Given the description of an element on the screen output the (x, y) to click on. 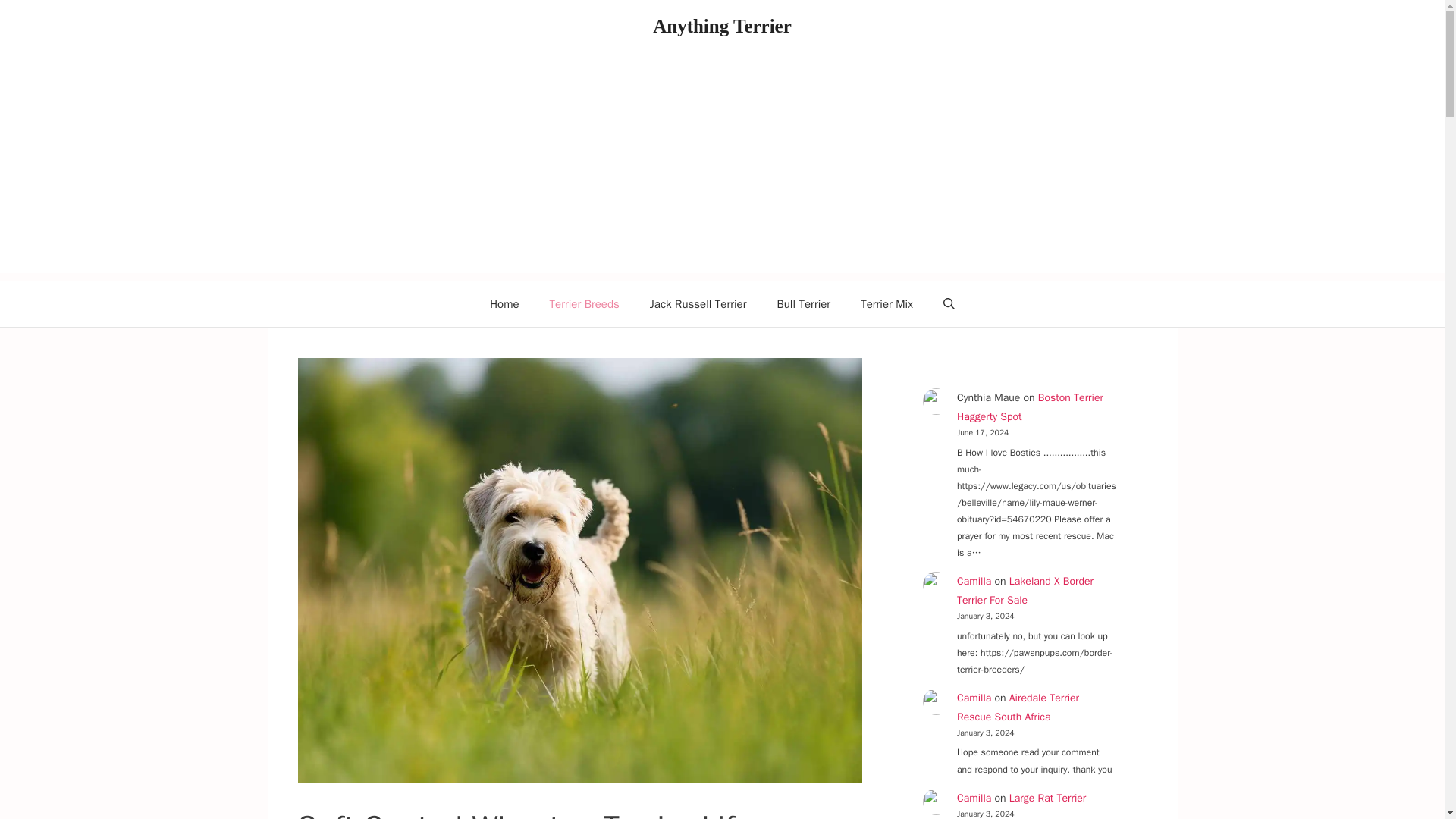
Terrier Mix (886, 303)
Bull Terrier (803, 303)
Boston Terrier Haggerty Spot (1029, 407)
Camilla (973, 581)
Home (504, 303)
Jack Russell Terrier (697, 303)
Anything Terrier (722, 25)
Terrier Breeds (584, 303)
